Given the description of an element on the screen output the (x, y) to click on. 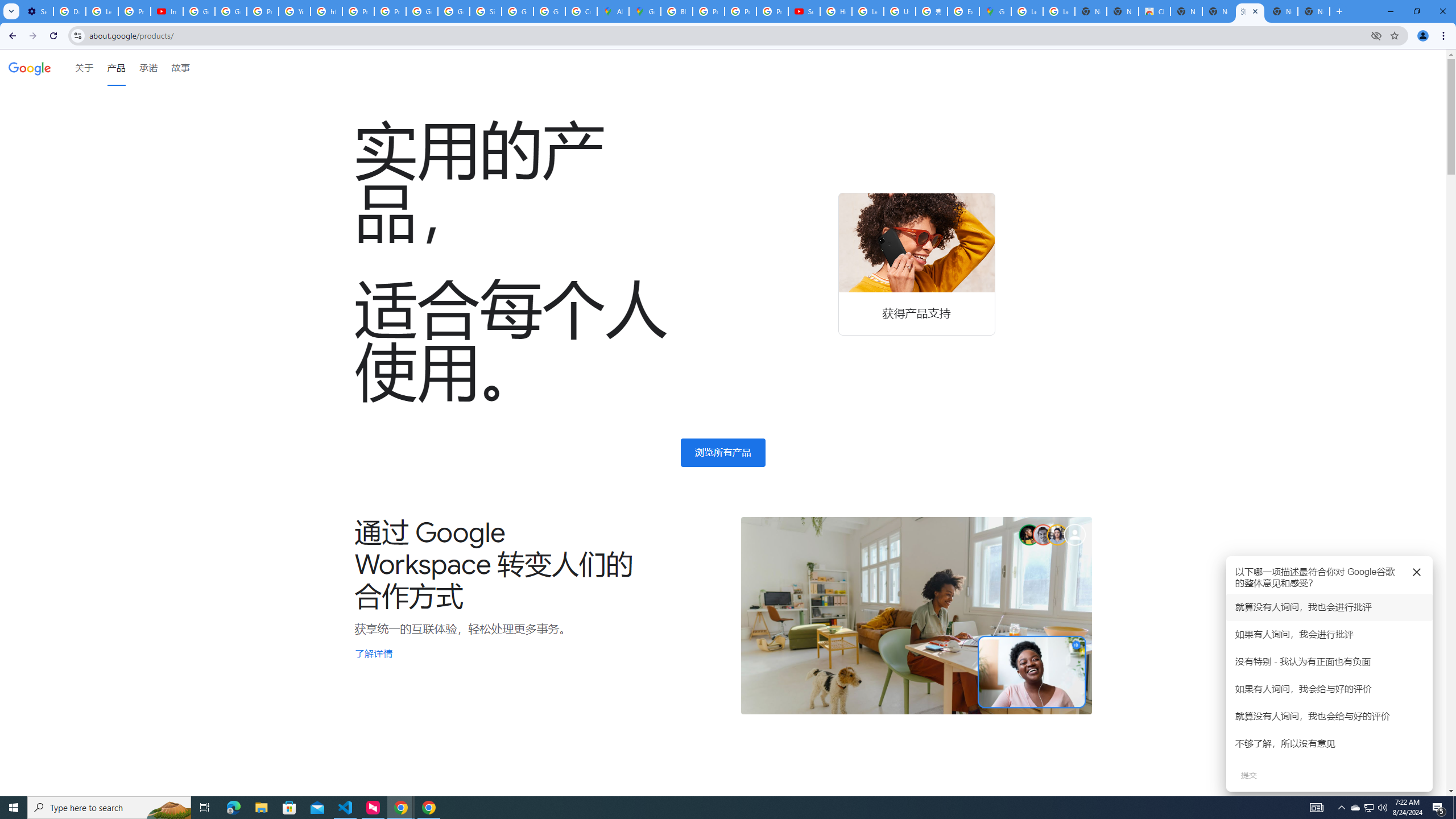
Privacy Help Center - Policies Help (262, 11)
Create your Google Account (581, 11)
